Given the description of an element on the screen output the (x, y) to click on. 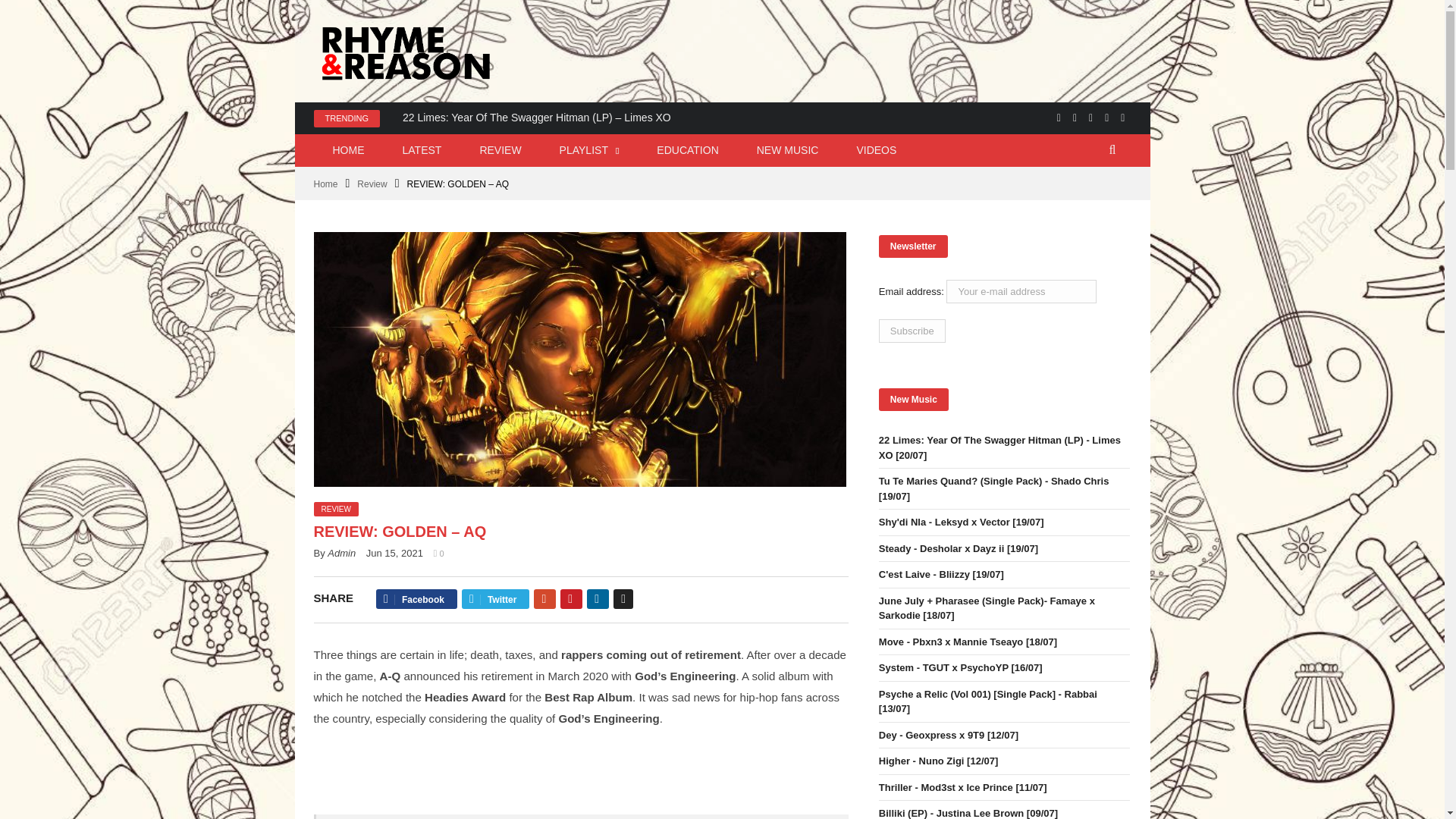
HOME (349, 150)
Home (325, 184)
NEW MUSIC (788, 150)
Facebook (1059, 117)
Admin (341, 552)
REVIEW (336, 509)
Pinterest (571, 598)
REVIEW (500, 150)
EDUCATION (686, 150)
LATEST (422, 150)
Subscribe (911, 331)
0 (438, 552)
PLAYLIST (589, 150)
LinkedIn (597, 598)
Jun 15, 2021 (394, 552)
